Given the description of an element on the screen output the (x, y) to click on. 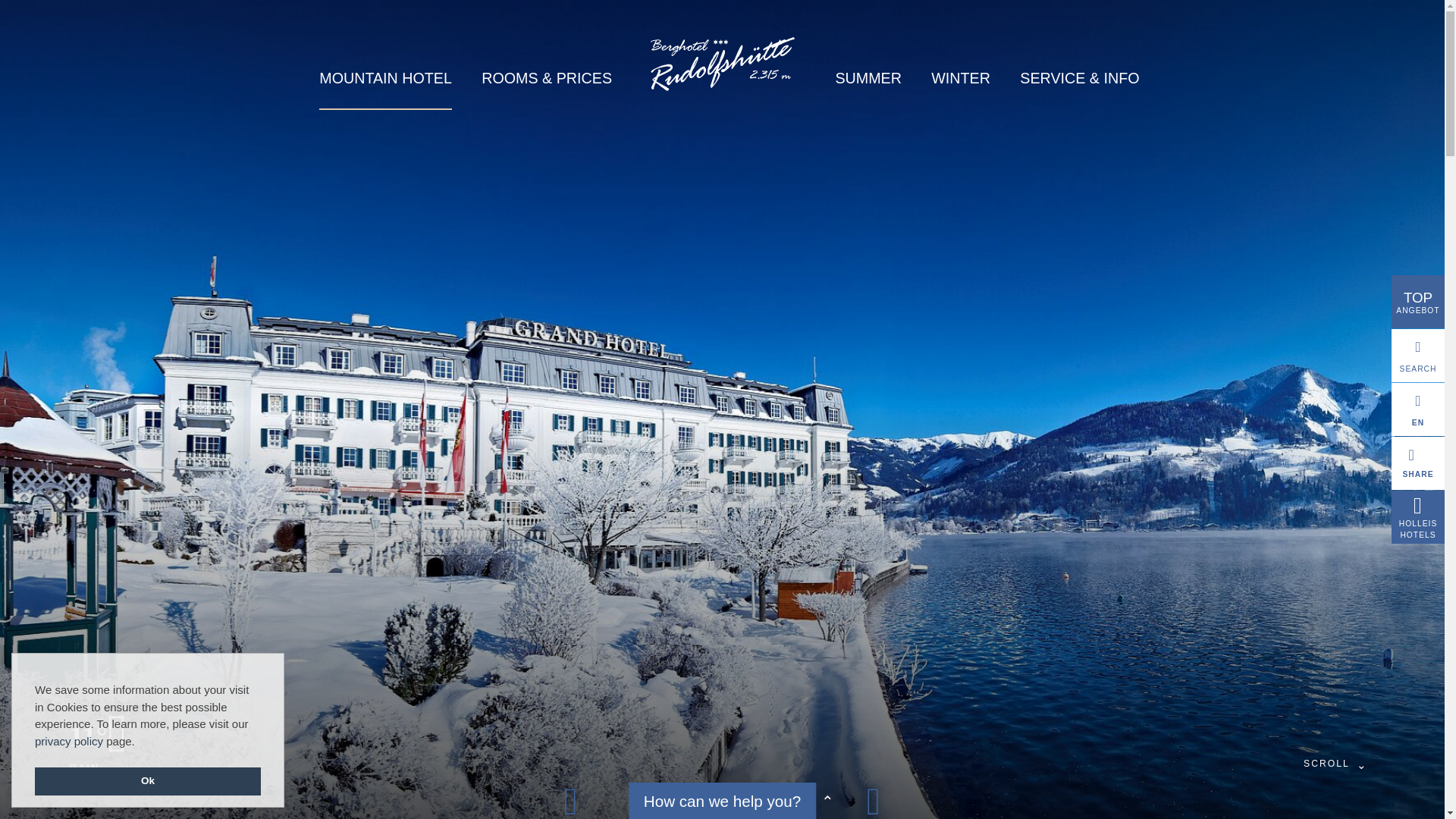
MOUNTAIN HOTEL (384, 78)
HOLLEIS HOTELS (1417, 516)
WINTER (960, 77)
Mountain hotel (384, 78)
Summer (867, 77)
SEARCH (1417, 355)
Winter (960, 77)
SUMMER (867, 77)
